Given the description of an element on the screen output the (x, y) to click on. 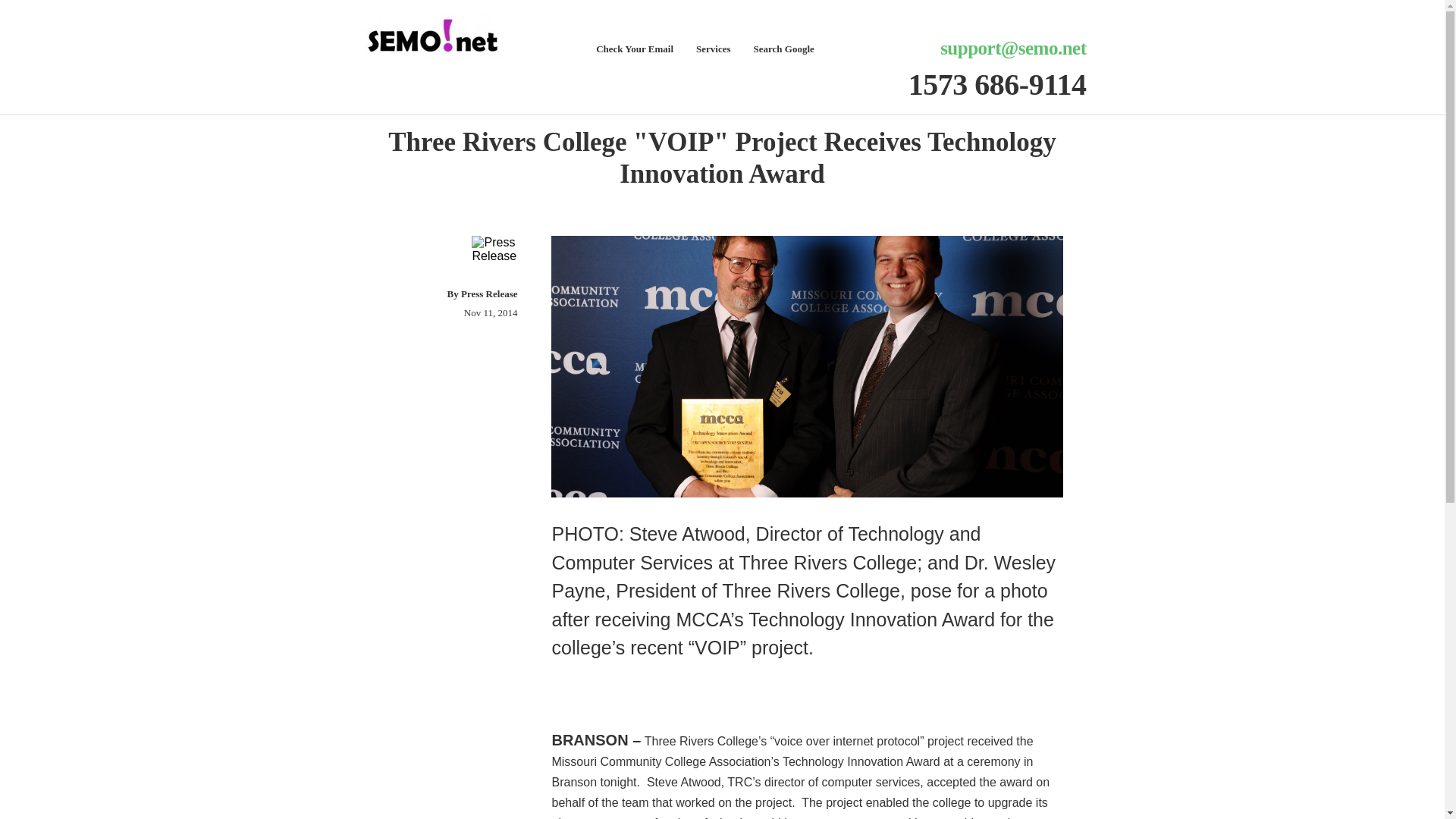
Search Google (783, 50)
Services (712, 50)
Press Release (488, 293)
Check Your Email (633, 50)
